Given the description of an element on the screen output the (x, y) to click on. 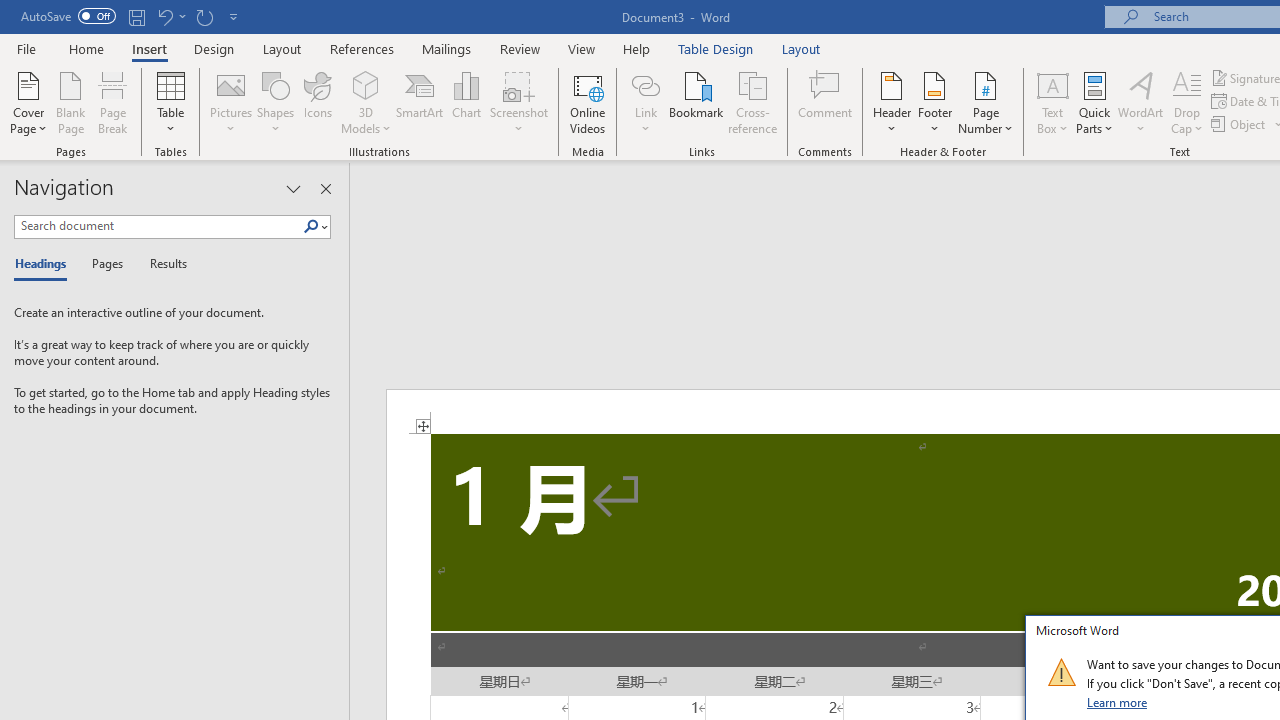
Page Break (113, 102)
Object... (1240, 124)
Icons (317, 102)
Table (170, 102)
Comment (825, 102)
Learn more (1118, 702)
Repeat Doc Close (204, 15)
Link (645, 102)
Quick Parts (1094, 102)
Page Number (986, 102)
